Given the description of an element on the screen output the (x, y) to click on. 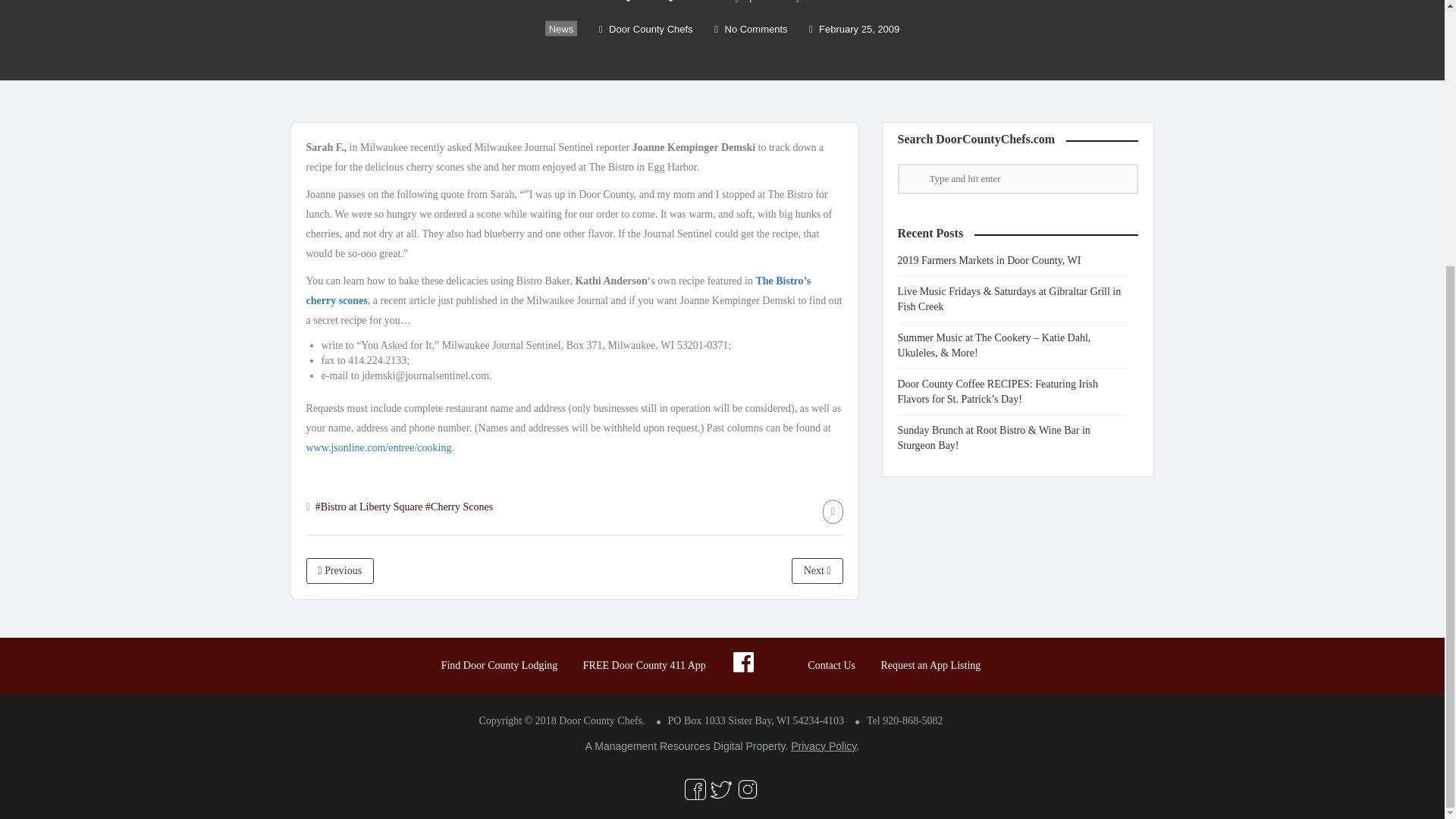
Door County Chefs (645, 29)
2019 Farmers Markets in Door County, WI (997, 260)
Next (817, 570)
Previous (339, 570)
No Comments (750, 29)
News (561, 28)
Home (607, 1)
News (647, 1)
